Given the description of an element on the screen output the (x, y) to click on. 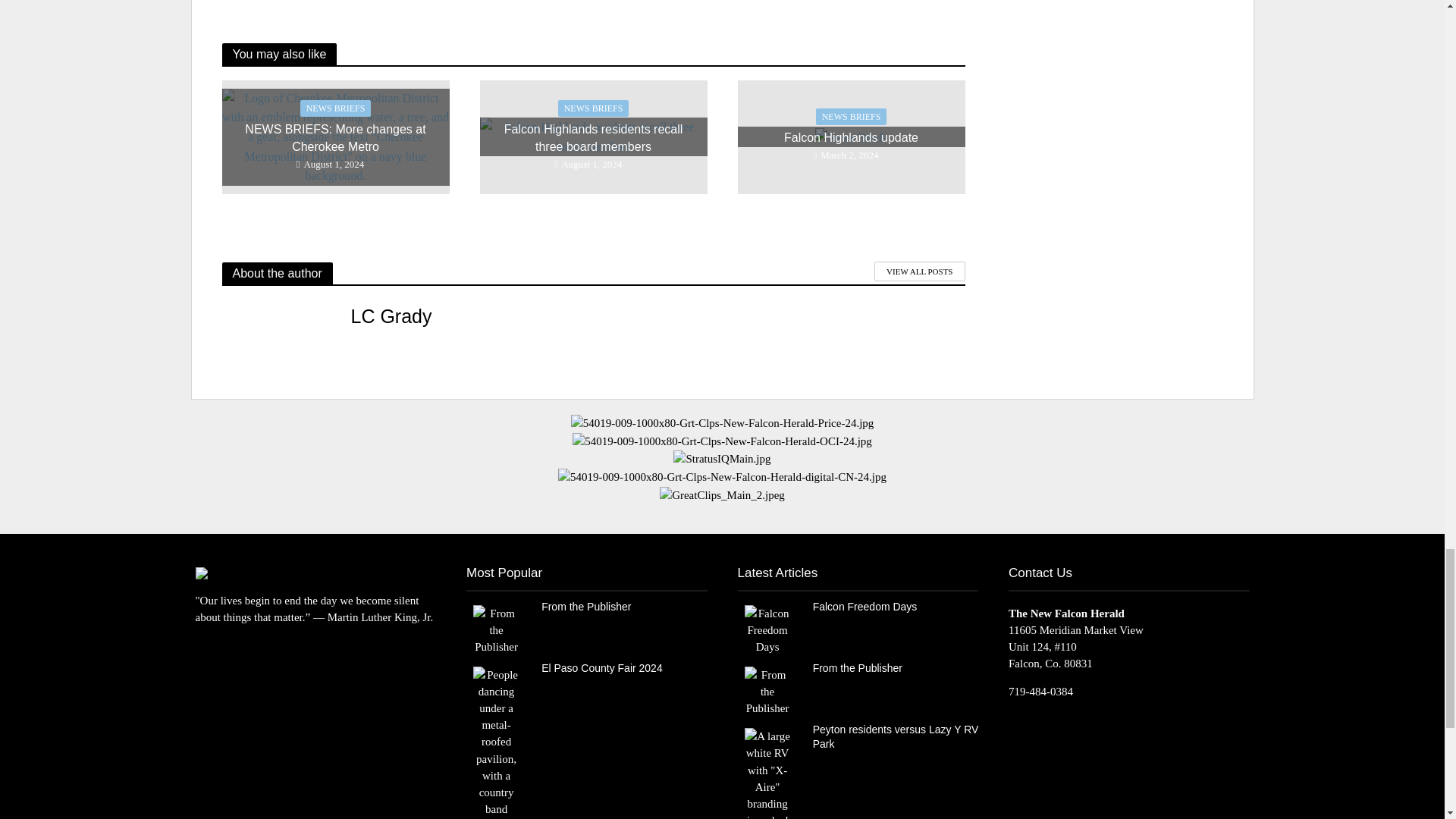
NEWS BRIEFS: More changes at Cherokee Metro (334, 134)
From the Publisher (496, 629)
Falcon Freedom Days (767, 629)
From the Publisher (767, 690)
Falcon Highlands residents recall three board members (592, 134)
Falcon Highlands update (851, 135)
